Given the description of an element on the screen output the (x, y) to click on. 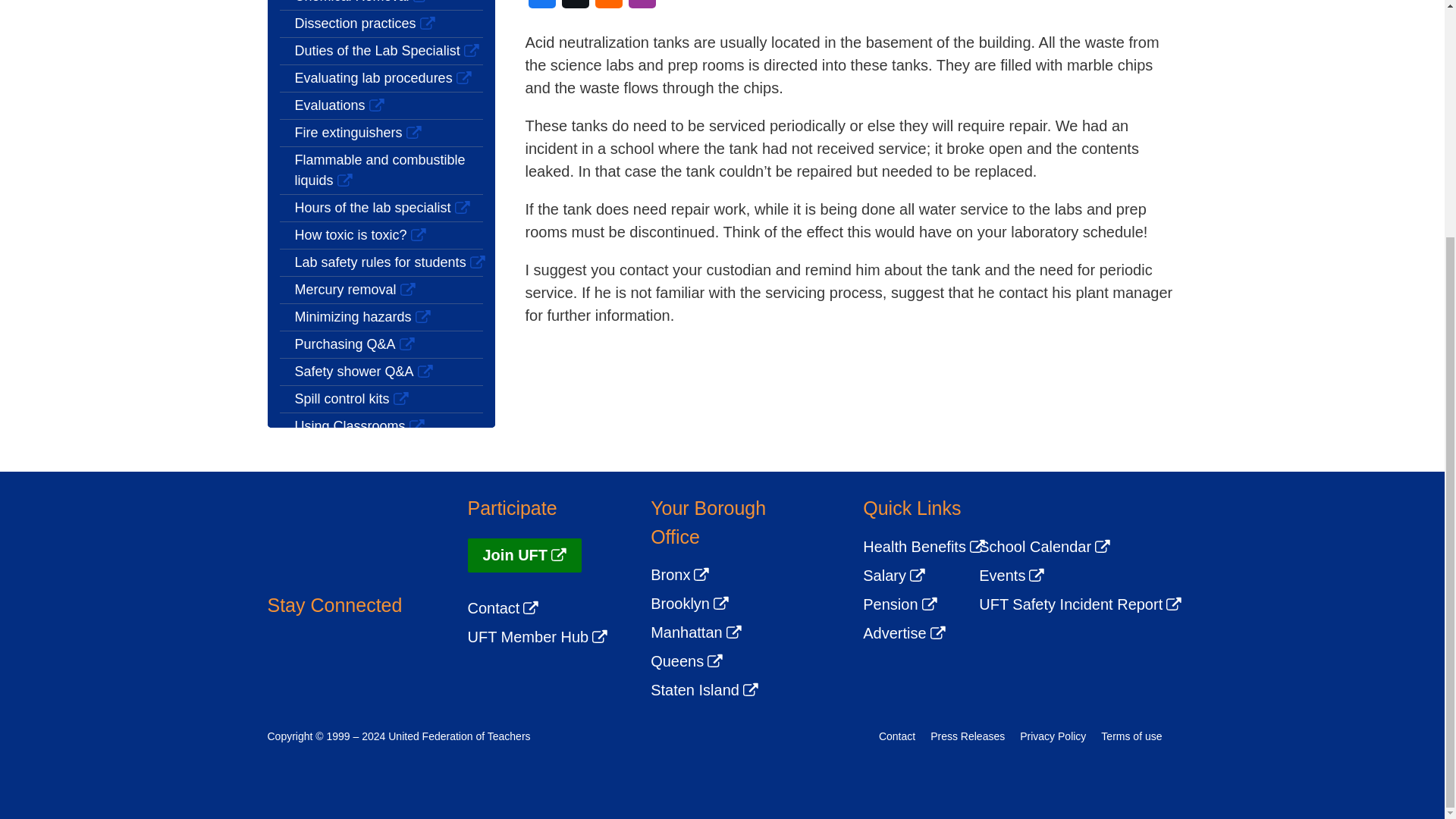
Share to X (574, 4)
Share to Facebook (540, 4)
Share to Email (607, 4)
TikTok (408, 657)
Instagram (365, 657)
Facebook (280, 657)
X (322, 657)
